Given the description of an element on the screen output the (x, y) to click on. 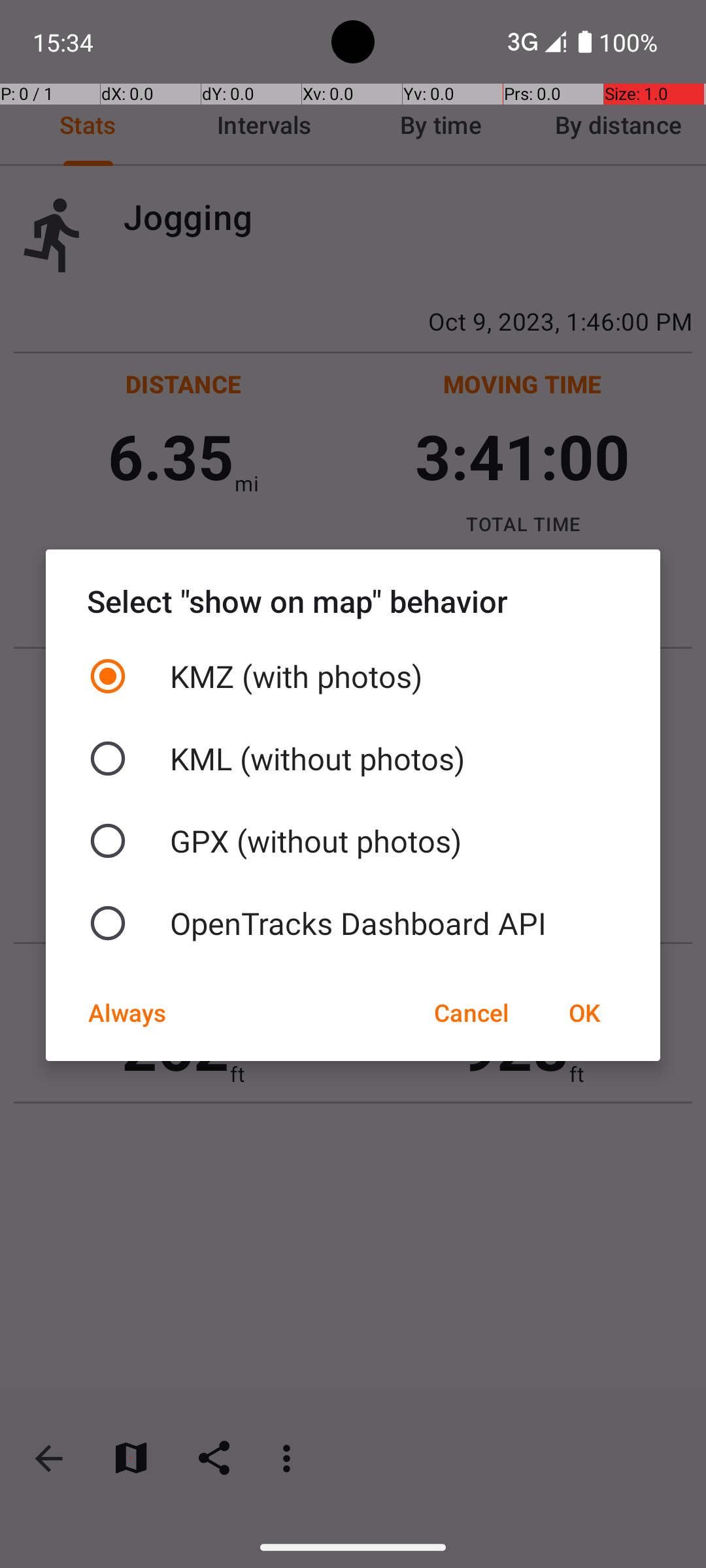
Select "show on map" behavior Element type: android.widget.TextView (352, 600)
KMZ (with photos) Element type: android.widget.CheckedTextView (352, 676)
KML (without photos) Element type: android.widget.CheckedTextView (352, 758)
GPX (without photos) Element type: android.widget.CheckedTextView (352, 840)
OpenTracks Dashboard API Element type: android.widget.CheckedTextView (352, 923)
